Given the description of an element on the screen output the (x, y) to click on. 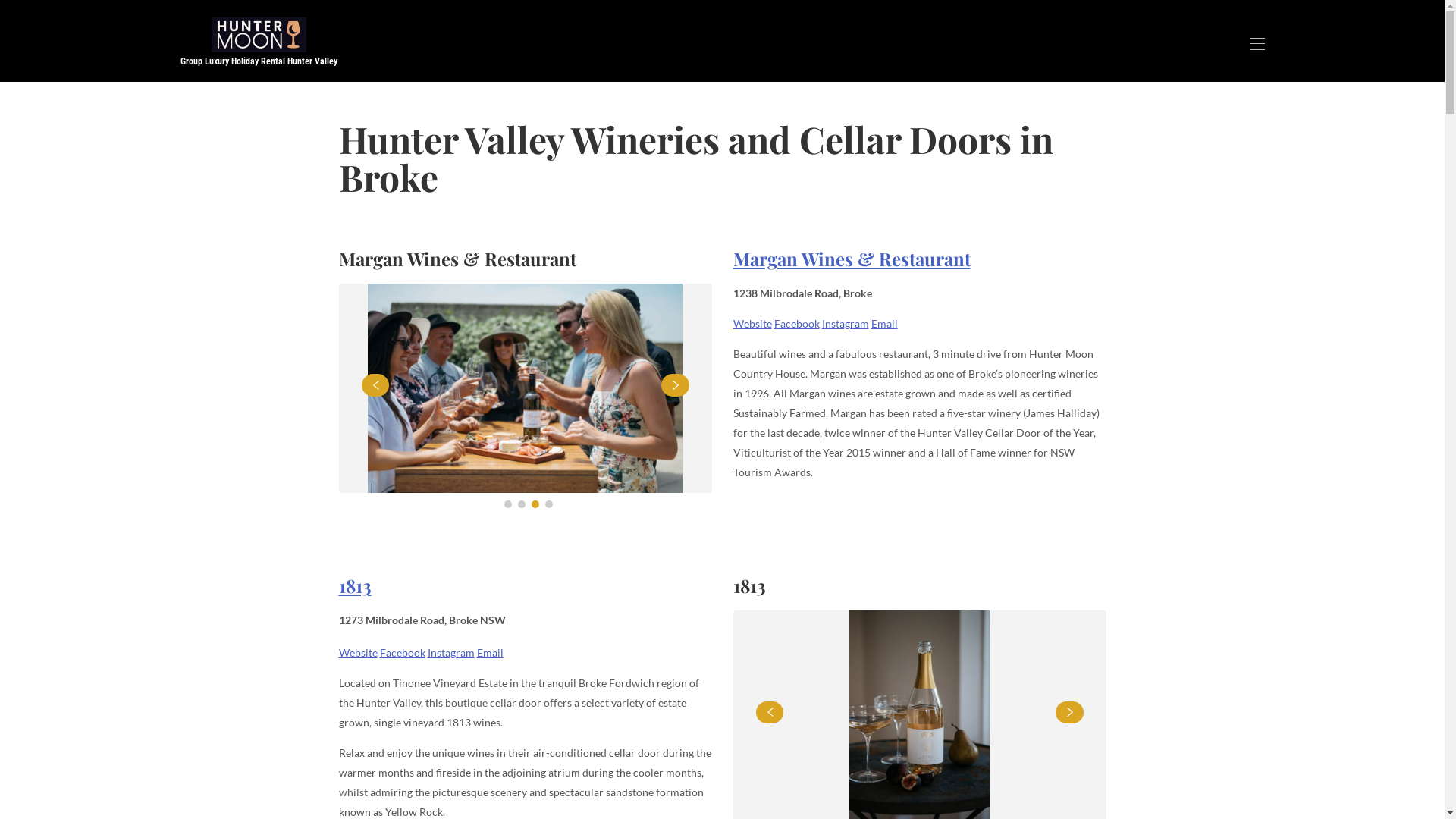
Image Title Element type: hover (524, 388)
Image Title Element type: hover (257, 34)
Instagram Element type: text (845, 322)
Group Luxury Holiday Rental Hunter Valley Element type: text (258, 43)
Facebook Element type: text (401, 652)
Instagram Element type: text (450, 652)
Website Element type: text (751, 322)
Facebook Element type: text (796, 322)
Email Element type: text (489, 652)
Website Element type: text (357, 652)
Margan Wines & Restaurant Element type: text (850, 258)
Email Element type: text (883, 322)
1813 Element type: text (354, 585)
